Given the description of an element on the screen output the (x, y) to click on. 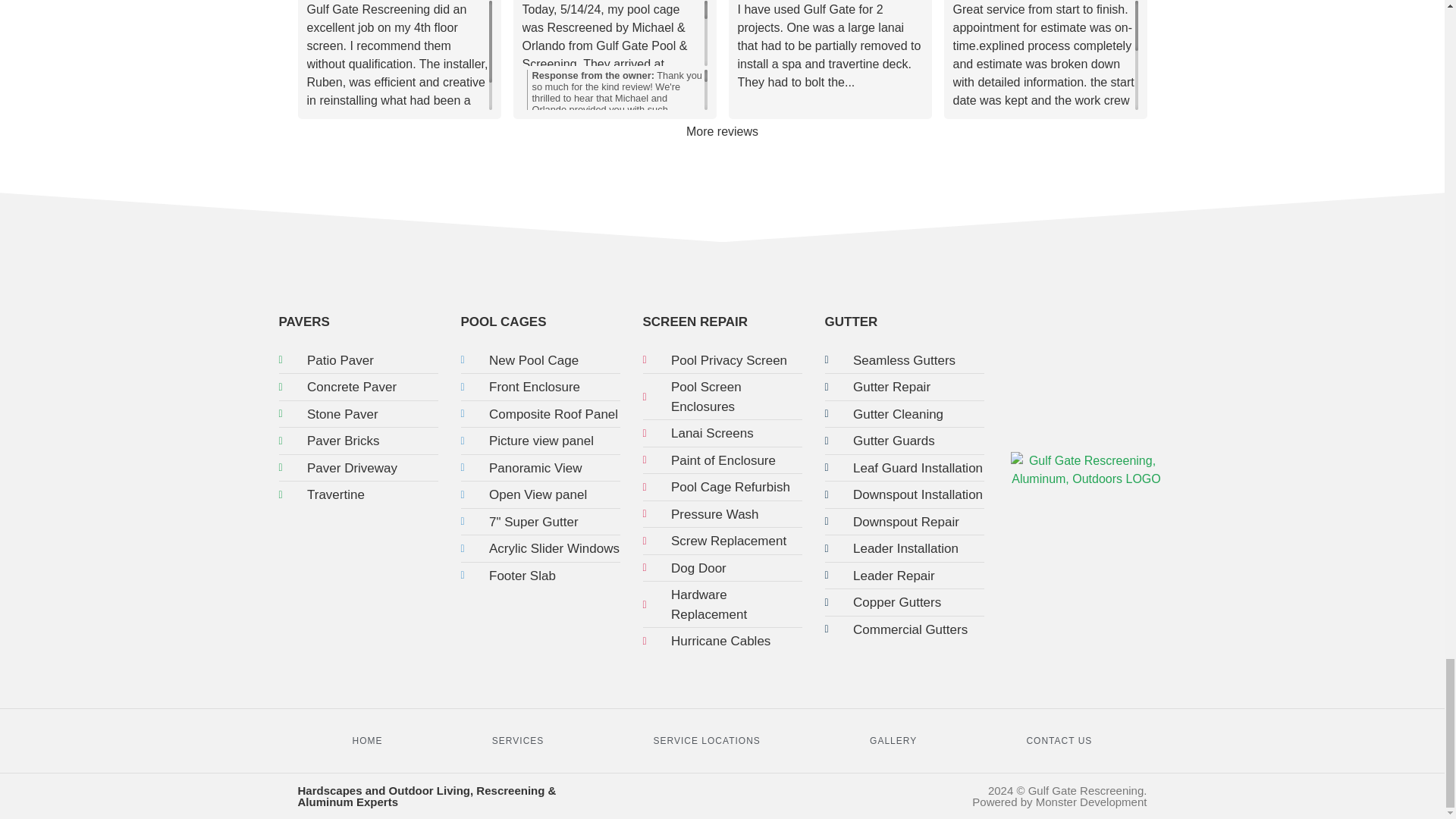
Service Locations (706, 740)
